Given the description of an element on the screen output the (x, y) to click on. 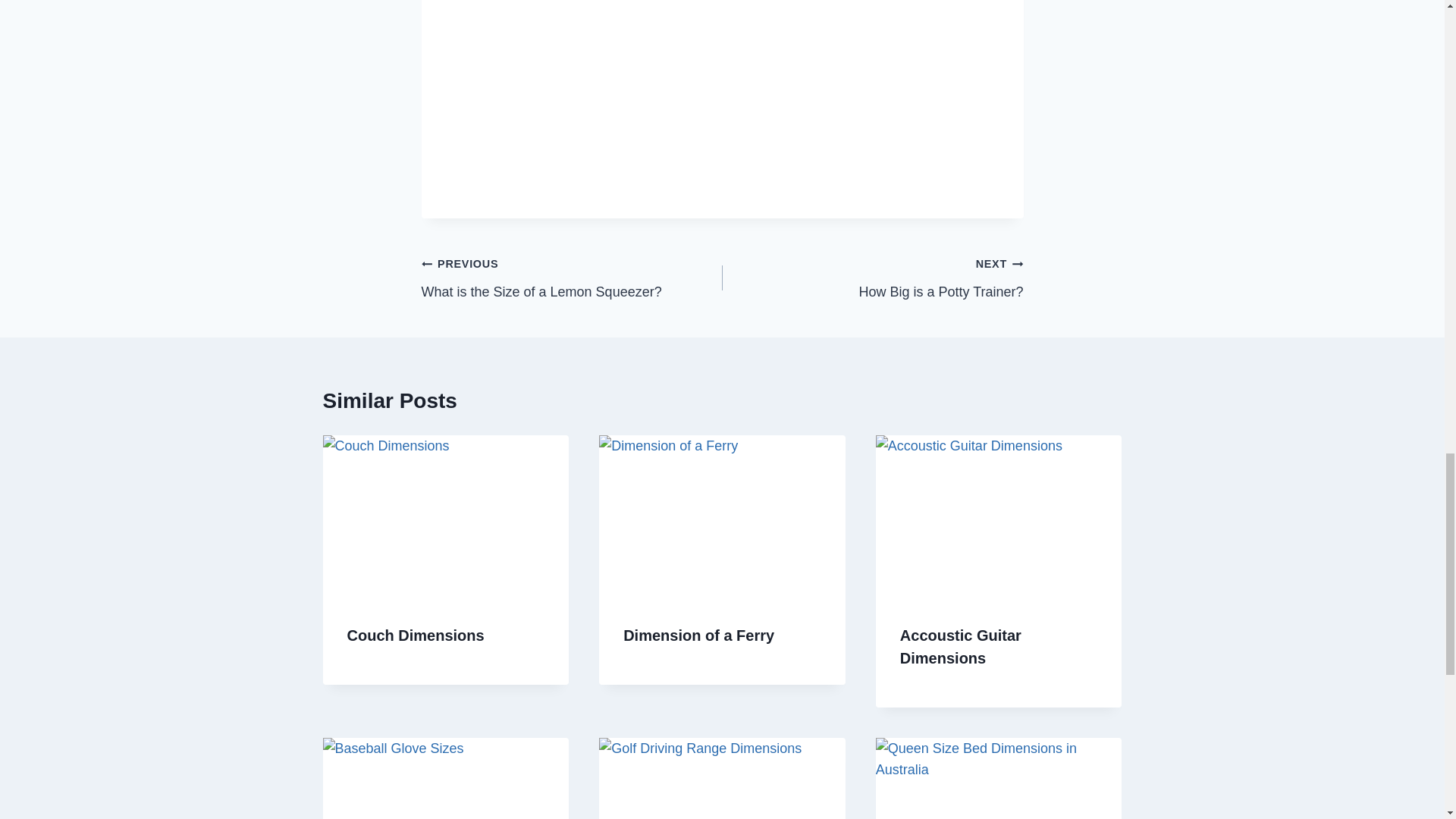
Dimension of a Ferry (698, 635)
Accoustic Guitar Dimensions (960, 646)
Couch Dimensions (572, 277)
